Given the description of an element on the screen output the (x, y) to click on. 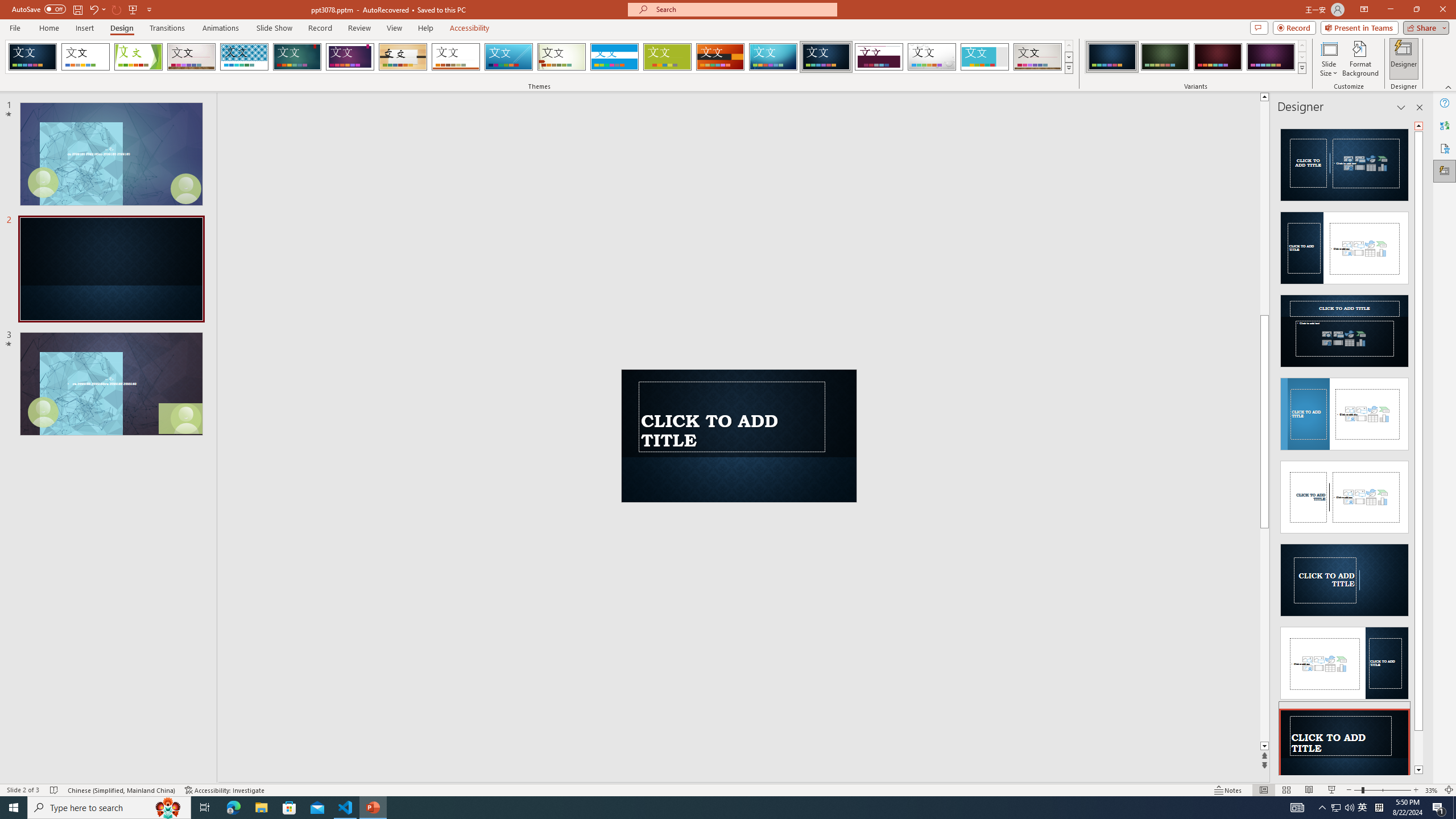
Retrospect (455, 56)
Zoom 33% (1431, 790)
Damask Variant 3 (1217, 56)
